Given the description of an element on the screen output the (x, y) to click on. 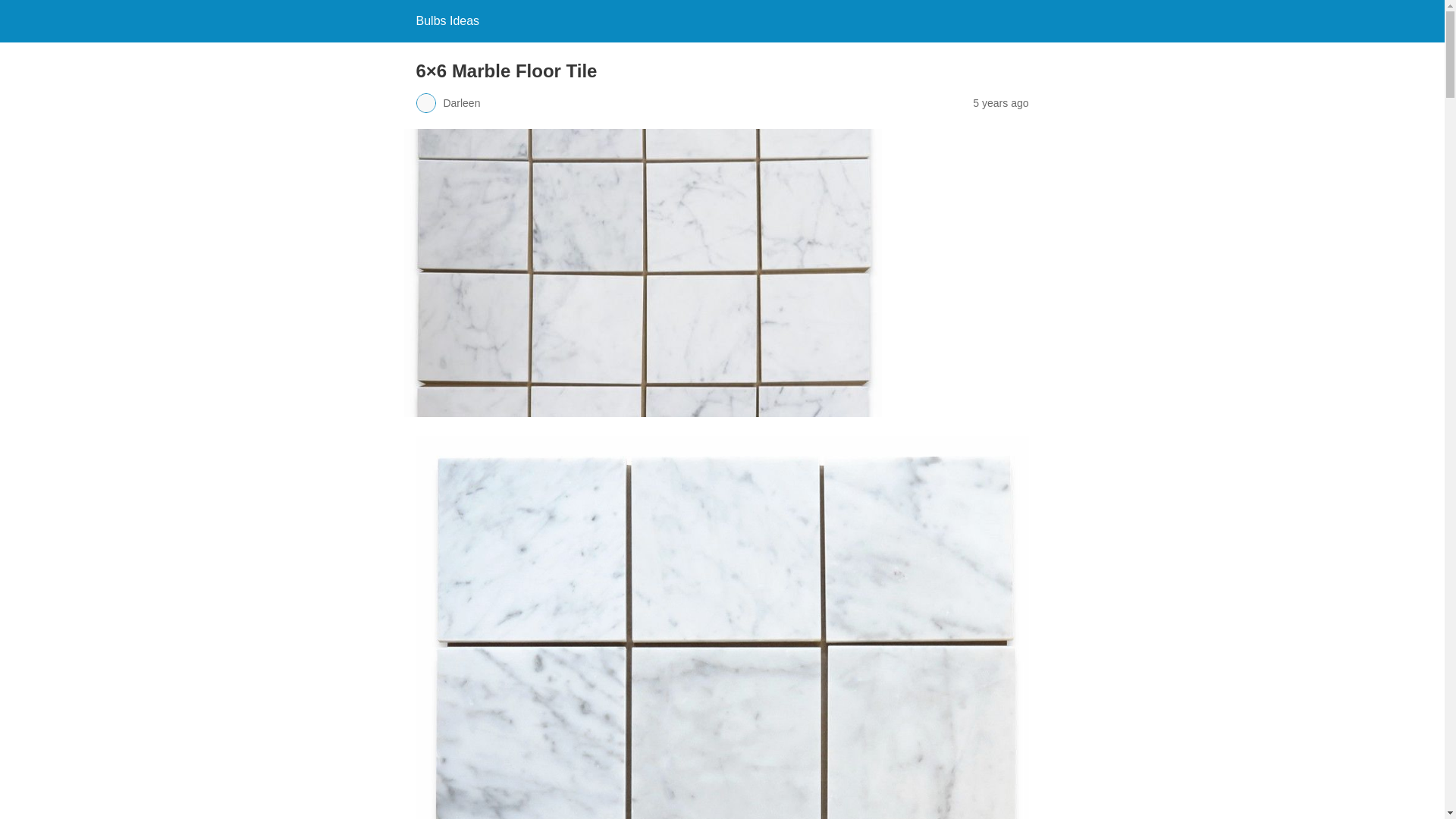
Bulbs Ideas (446, 20)
